Given the description of an element on the screen output the (x, y) to click on. 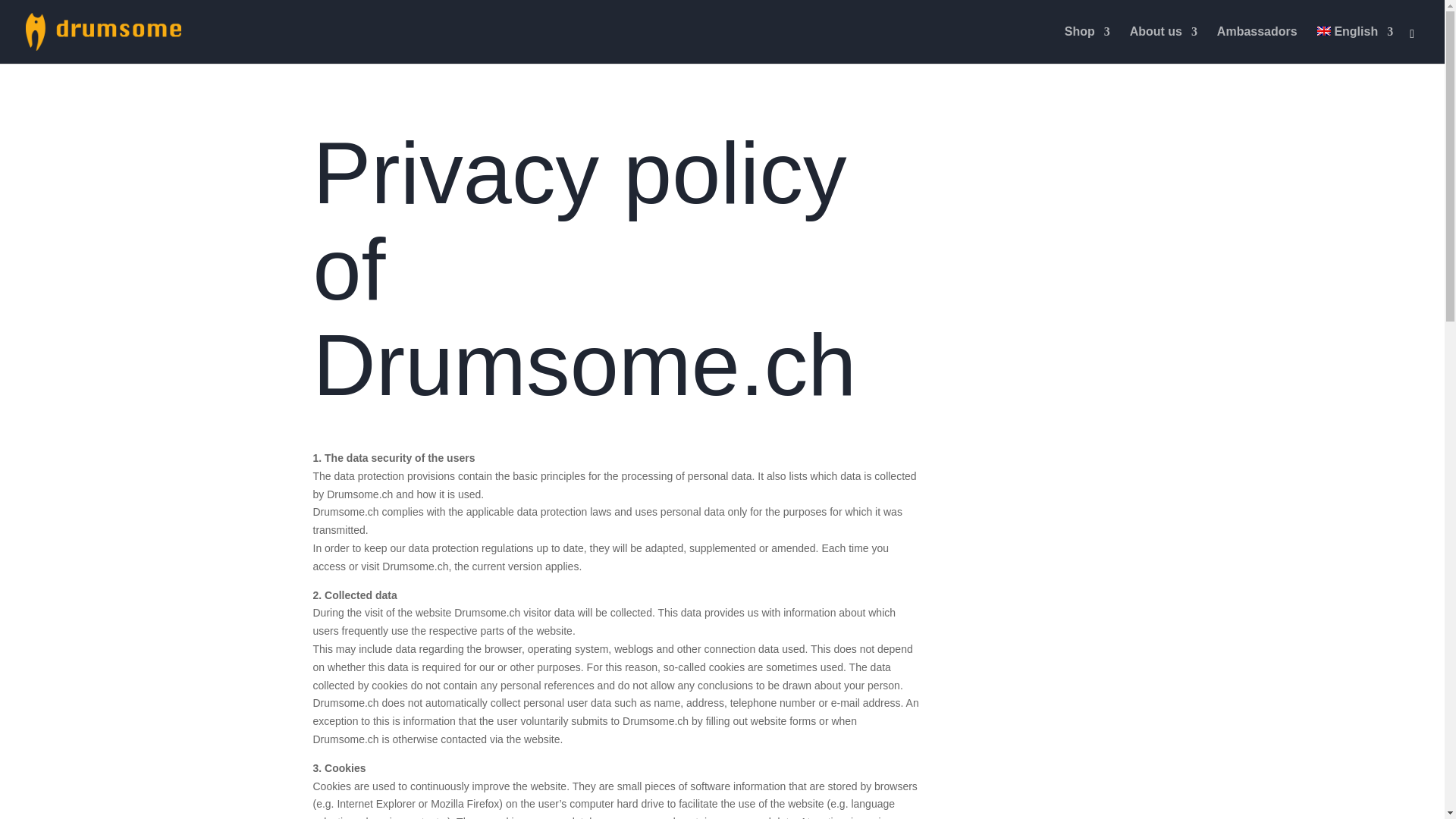
About us (1162, 44)
English (1355, 44)
Ambassadors (1257, 44)
Shop (1086, 44)
English (1355, 44)
